Given the description of an element on the screen output the (x, y) to click on. 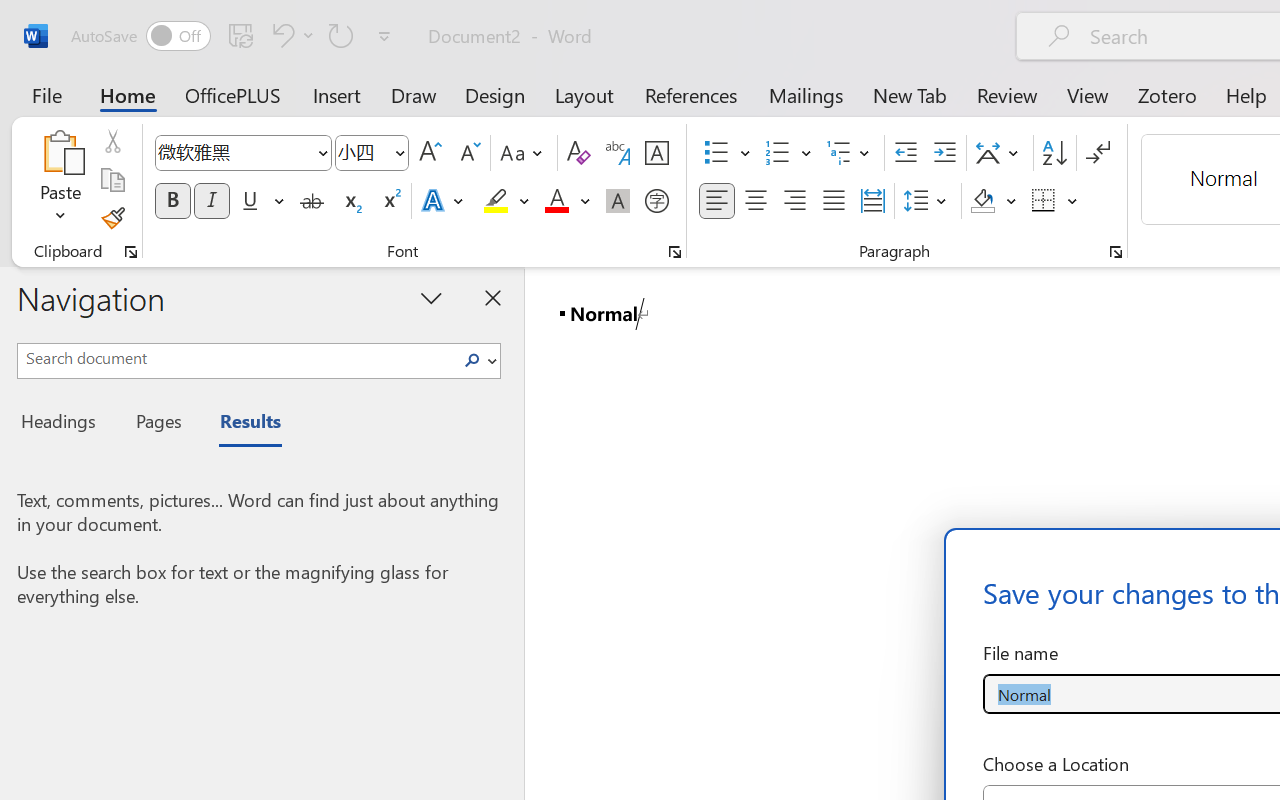
Enclose Characters... (656, 201)
Search (478, 360)
Font Size (362, 152)
Can't Repeat (341, 35)
Paste (60, 179)
Layout (584, 94)
Cut (112, 141)
Insert (337, 94)
References (690, 94)
Bullets (716, 153)
Superscript (390, 201)
Undo Style (280, 35)
OfficePLUS (233, 94)
Align Left (716, 201)
